Given the description of an element on the screen output the (x, y) to click on. 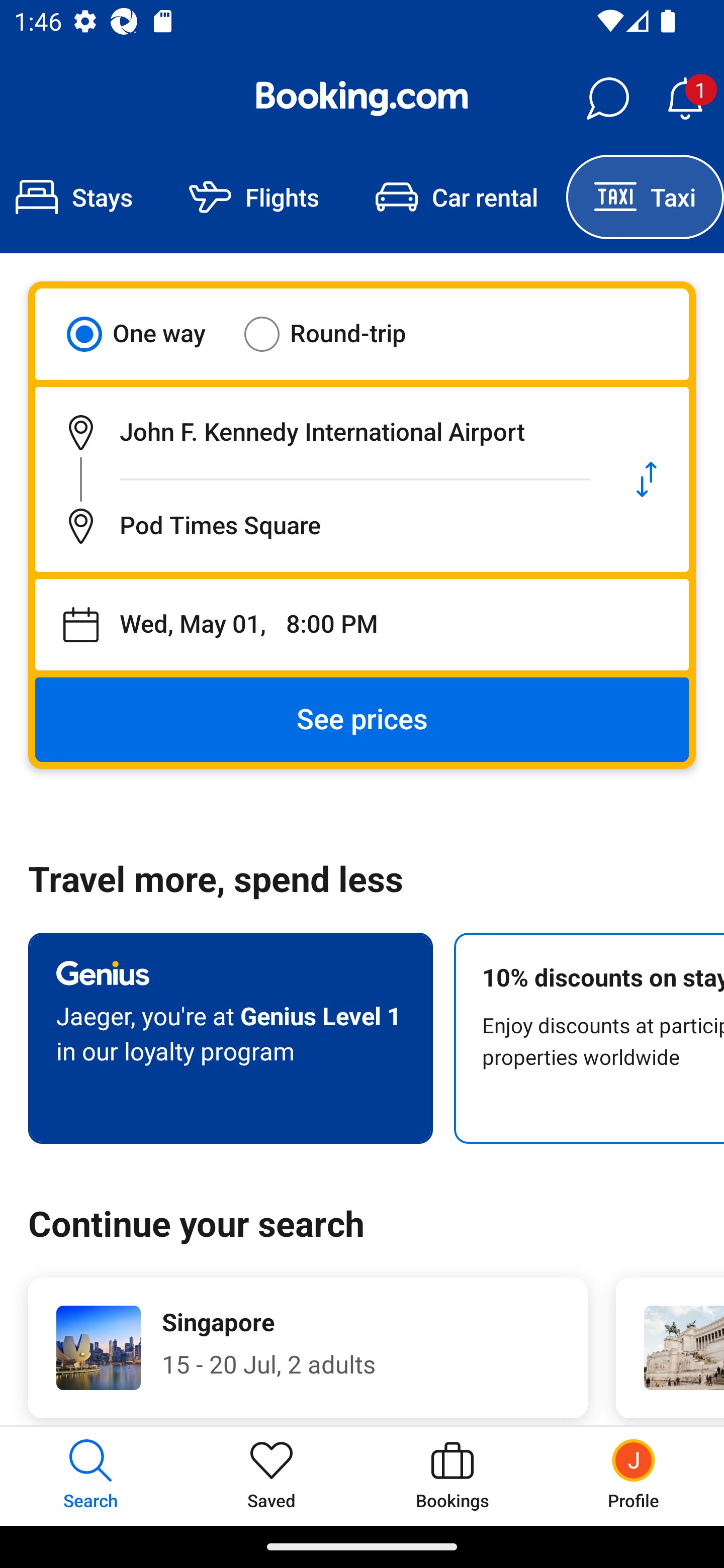
Messages (607, 98)
Notifications (685, 98)
Stays (80, 197)
Flights (253, 197)
Car rental (456, 197)
Taxi (645, 197)
Round-trip (337, 333)
Swap pick-up location and destination (646, 479)
Destination: Pod Times Square (319, 525)
Pick-up date: Wed, May 01 8:00 PM (361, 624)
See prices (361, 719)
Singapore 15 - 20 Jul, 2 adults (307, 1347)
Saved (271, 1475)
Bookings (452, 1475)
Profile (633, 1475)
